Given the description of an element on the screen output the (x, y) to click on. 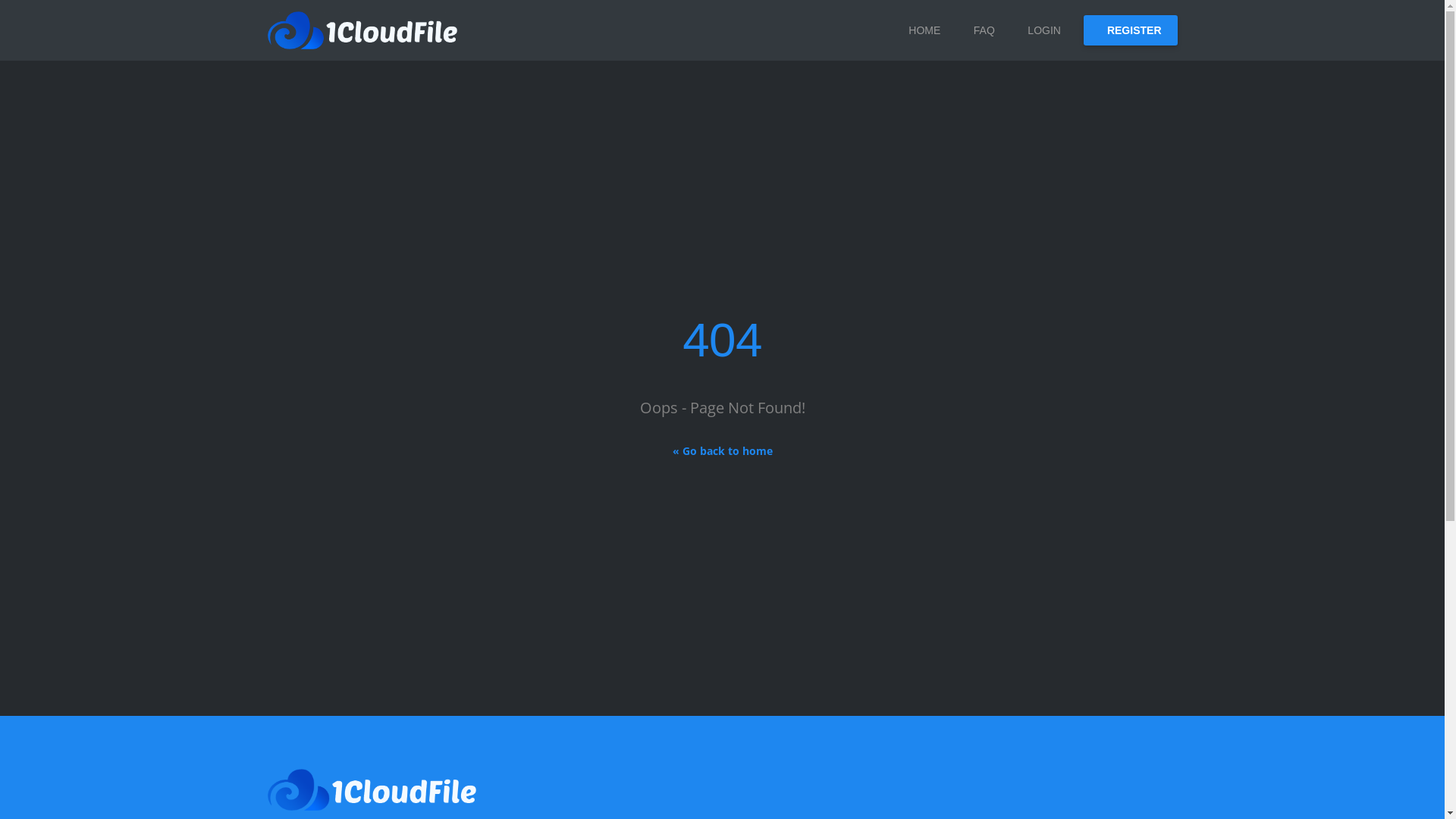
REGISTER Element type: text (1130, 30)
FAQ Element type: text (978, 30)
LOGIN Element type: text (1039, 30)
HOME Element type: text (919, 30)
Logo Element type: hover (370, 788)
Logo Element type: hover (362, 30)
